Given the description of an element on the screen output the (x, y) to click on. 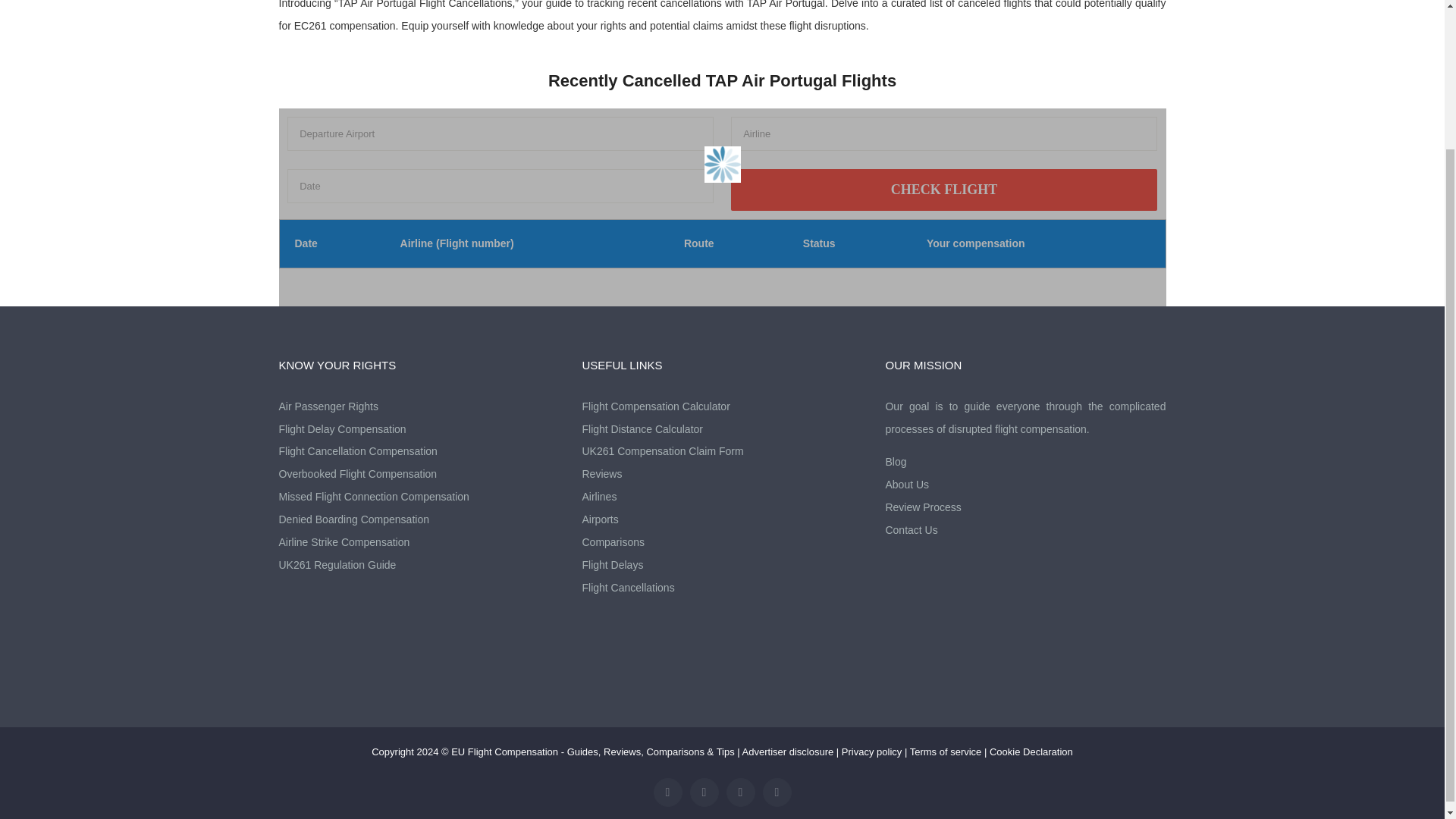
Blogger (740, 792)
YouTube (704, 792)
Flight Cancellation Compensation (419, 451)
Facebook (667, 792)
Missed Flight Connection Compensation (419, 497)
CHECK FLIGHT (943, 189)
Pinterest (777, 792)
Air Passenger Rights (419, 406)
Overbooked Flight Compensation (419, 474)
Flight Delay Compensation (419, 429)
